Given the description of an element on the screen output the (x, y) to click on. 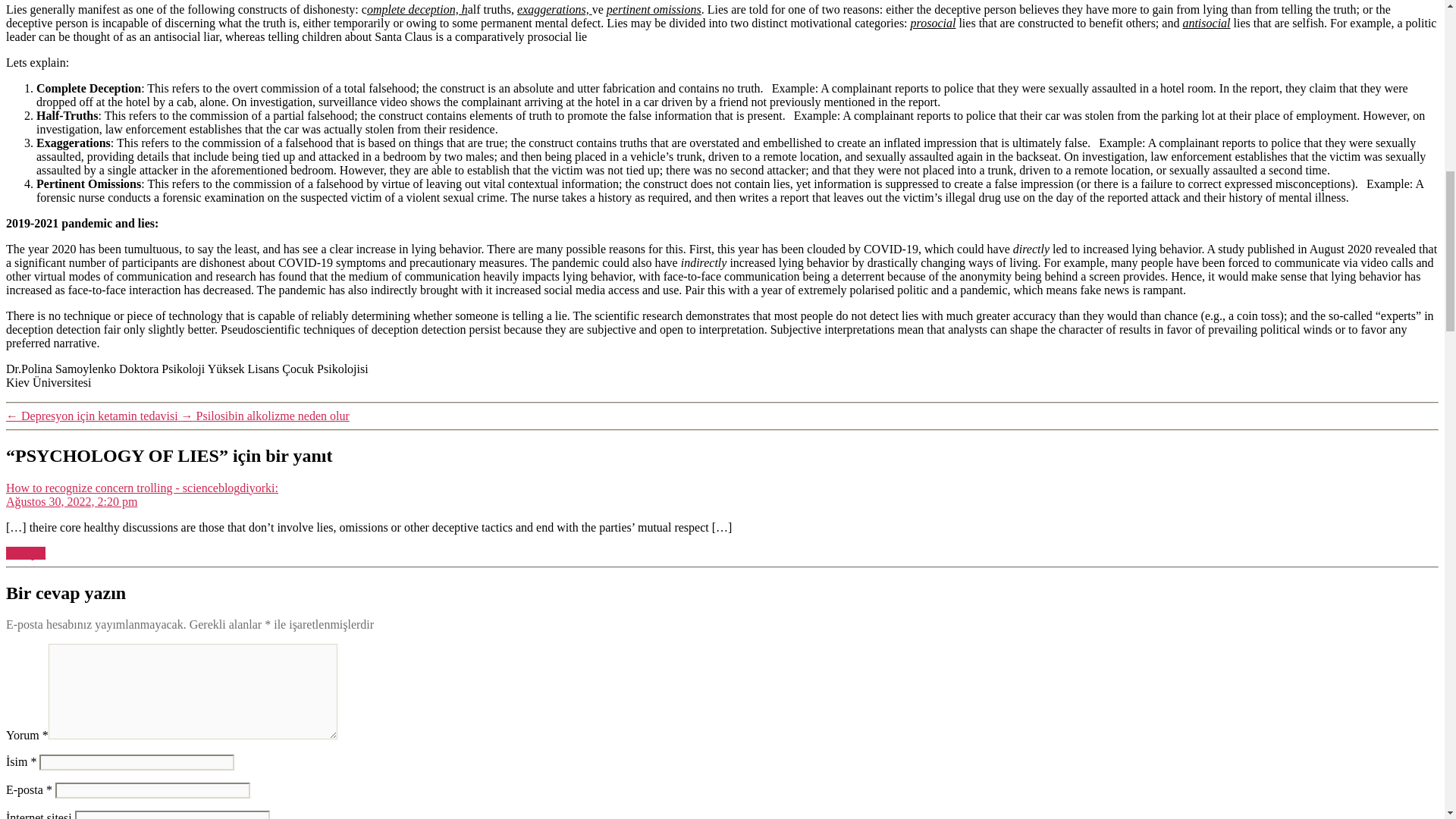
How to recognize concern trolling - scienceblogdiyorki: (141, 487)
Cevapla (25, 553)
